Given the description of an element on the screen output the (x, y) to click on. 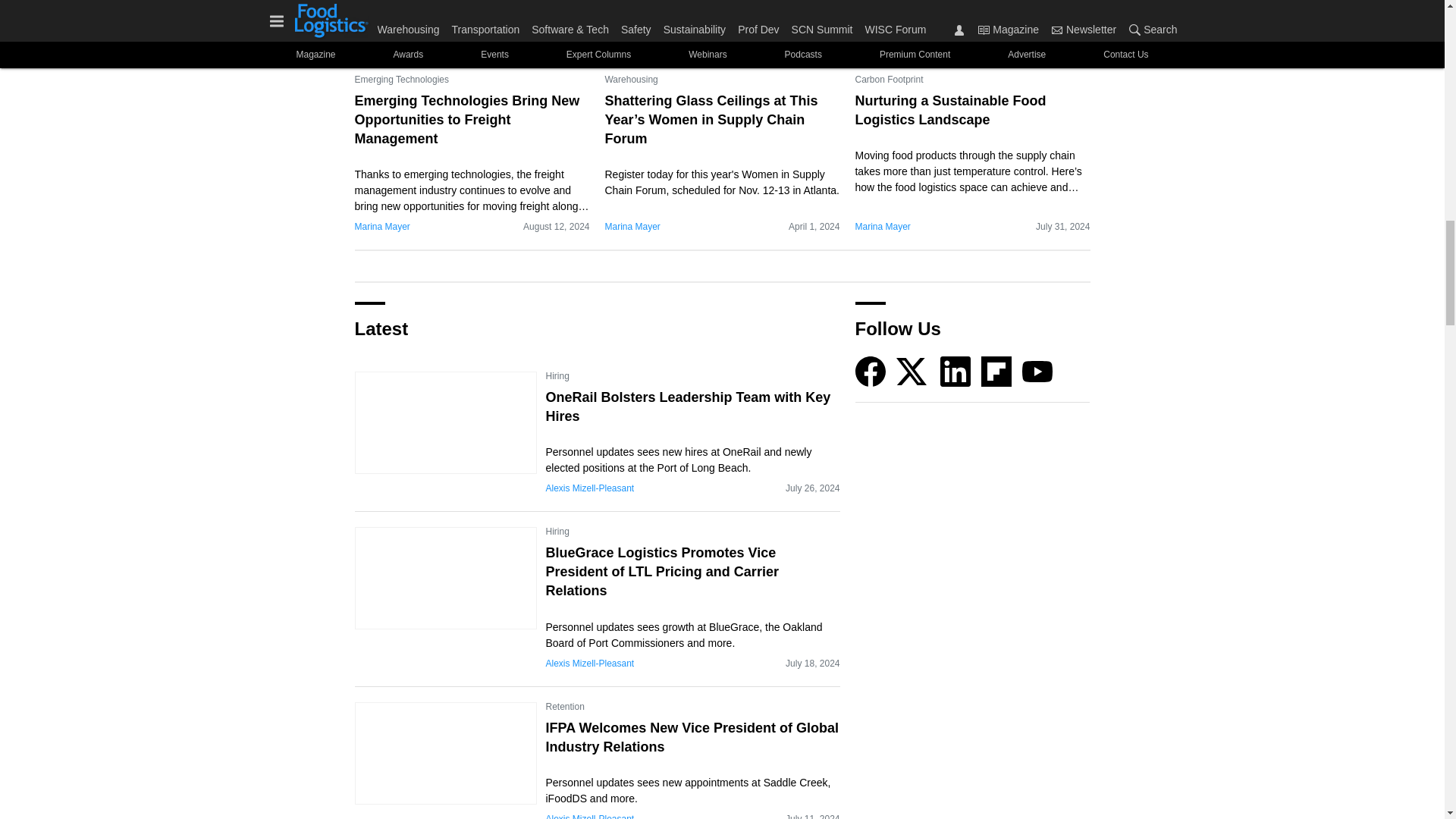
YouTube icon (1037, 371)
Twitter X icon (911, 371)
Facebook icon (870, 371)
LinkedIn icon (955, 371)
Flipboard icon (996, 371)
Warehousing (631, 79)
